Given the description of an element on the screen output the (x, y) to click on. 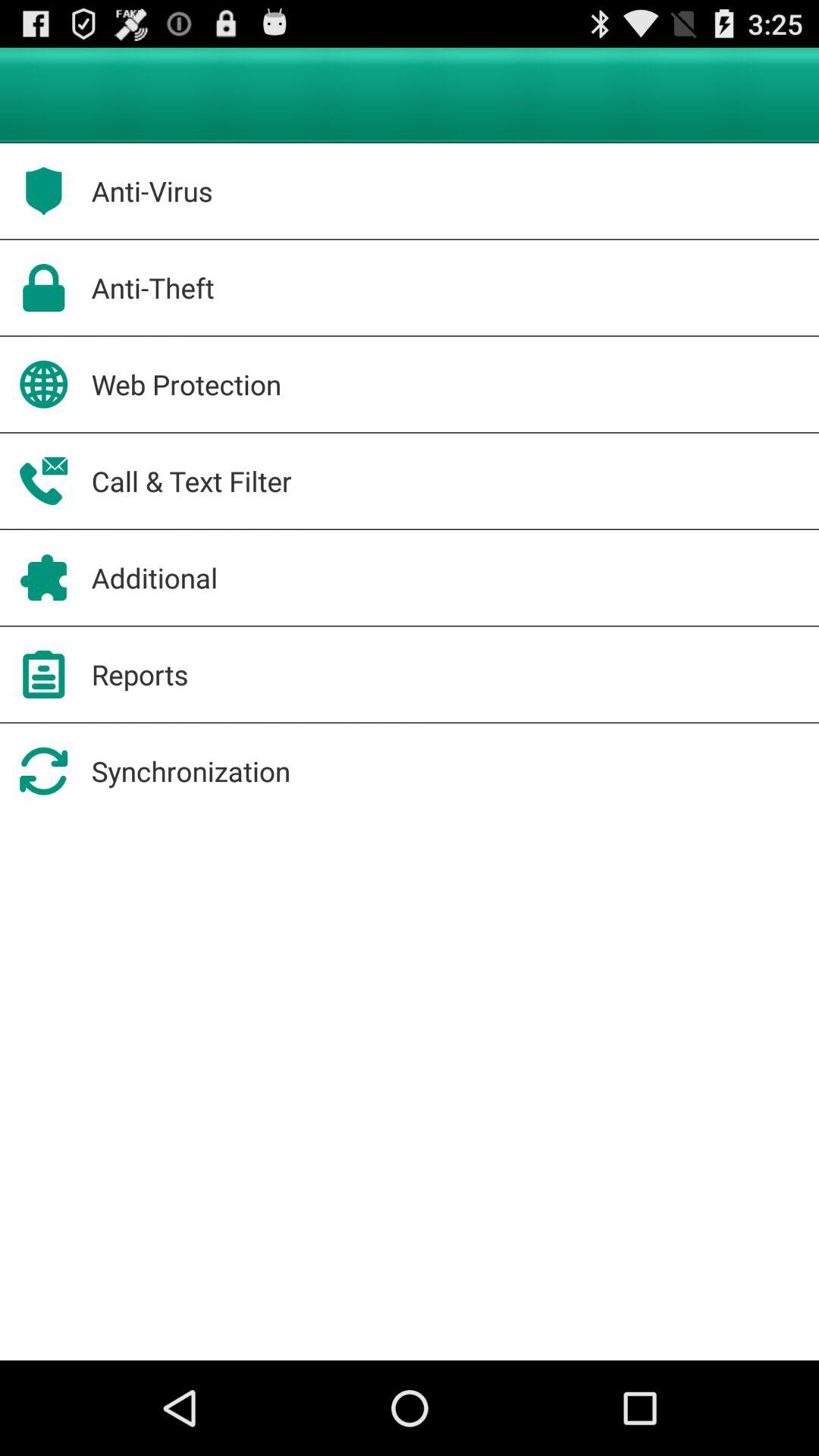
turn on the item below the additional (139, 674)
